Given the description of an element on the screen output the (x, y) to click on. 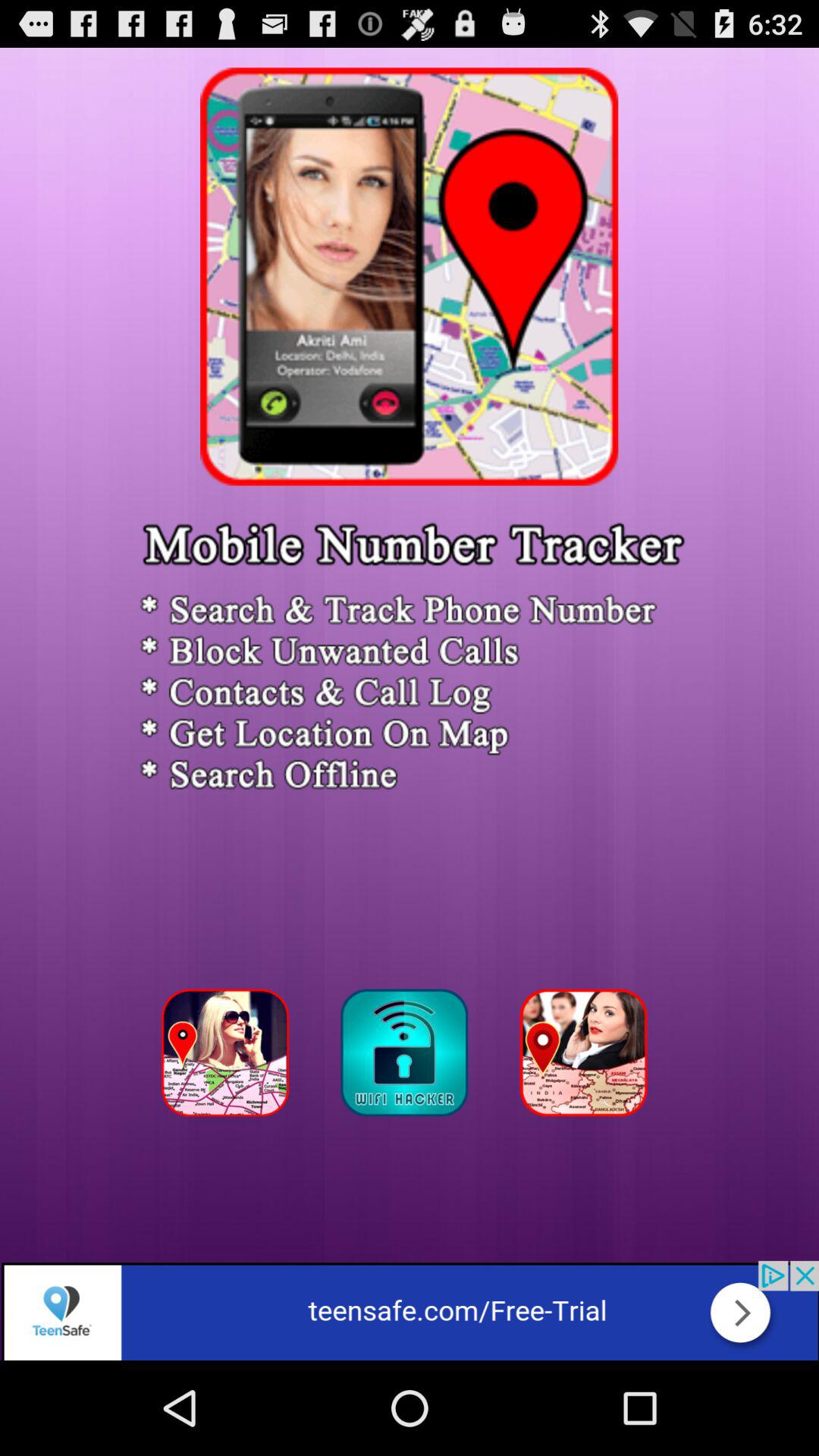
sound button (408, 1057)
